Given the description of an element on the screen output the (x, y) to click on. 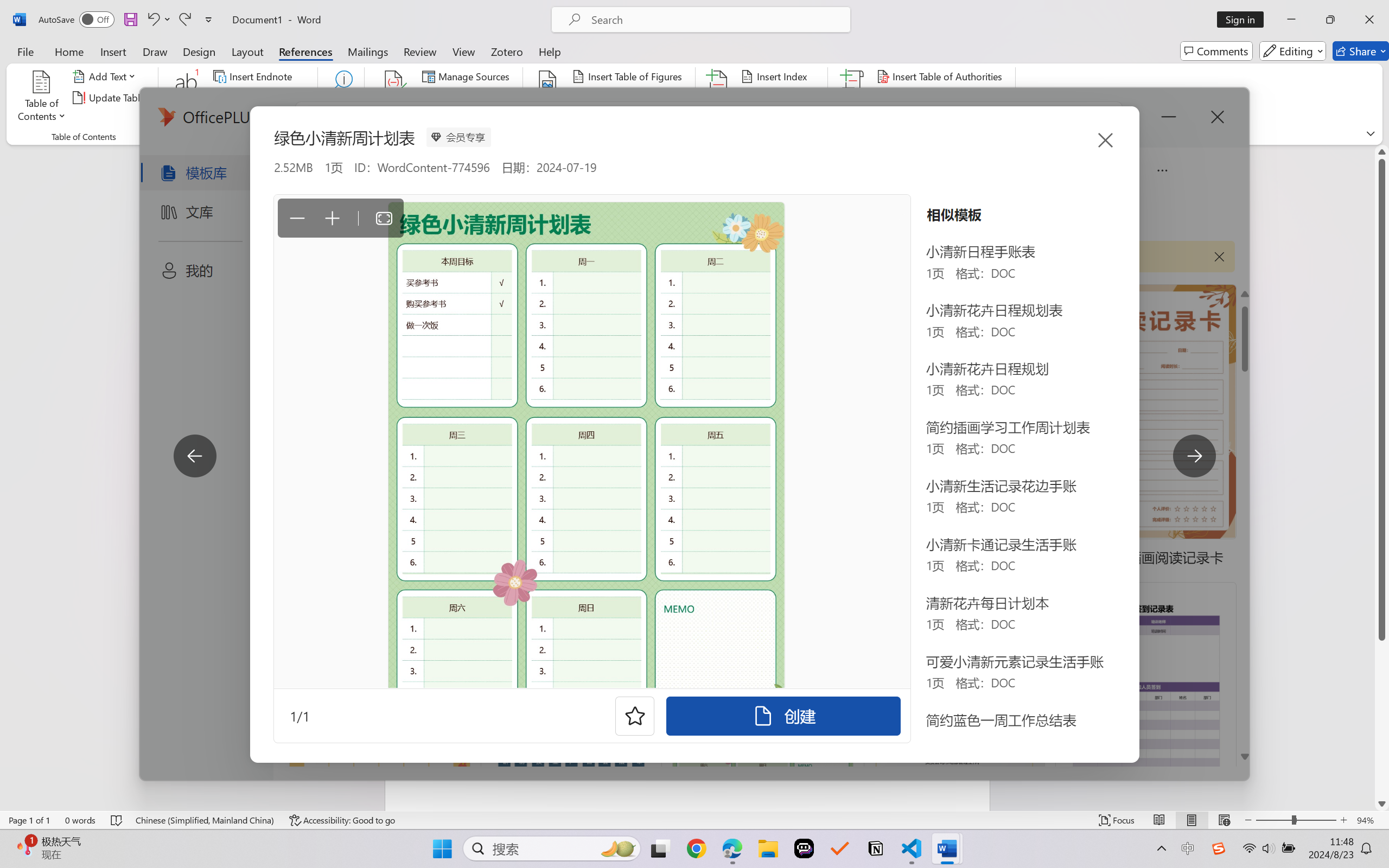
Cross-reference... (615, 118)
Insert Index... (775, 75)
Bibliography (463, 118)
Table of Contents (42, 97)
Insert Caption... (547, 97)
